Given the description of an element on the screen output the (x, y) to click on. 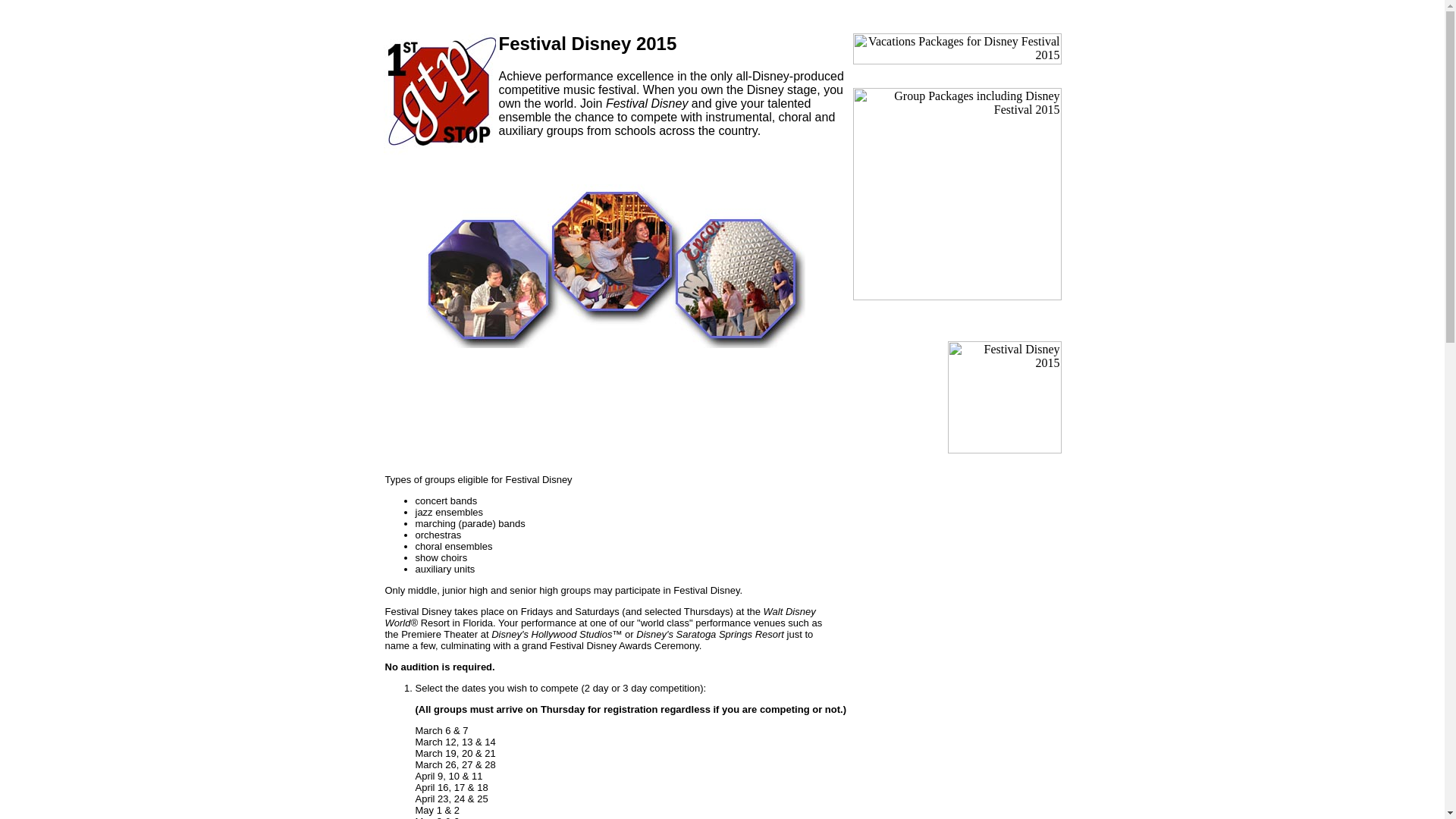
Receptive Services Element type: text (892, 13)
Home Element type: text (381, 13)
REQUEST A QUOTE Element type: text (1018, 13)
Contact Element type: text (434, 13)
